Given the description of an element on the screen output the (x, y) to click on. 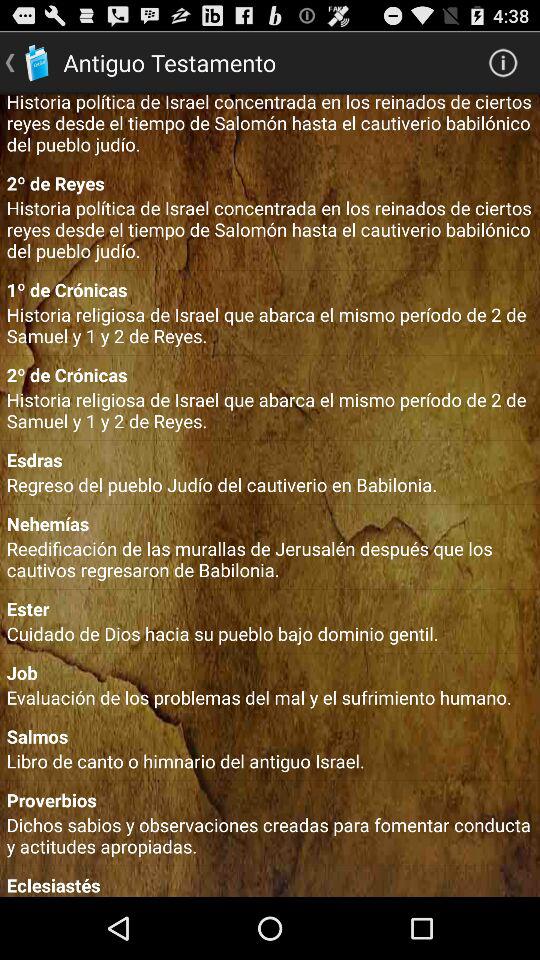
select the esdras (269, 459)
